Given the description of an element on the screen output the (x, y) to click on. 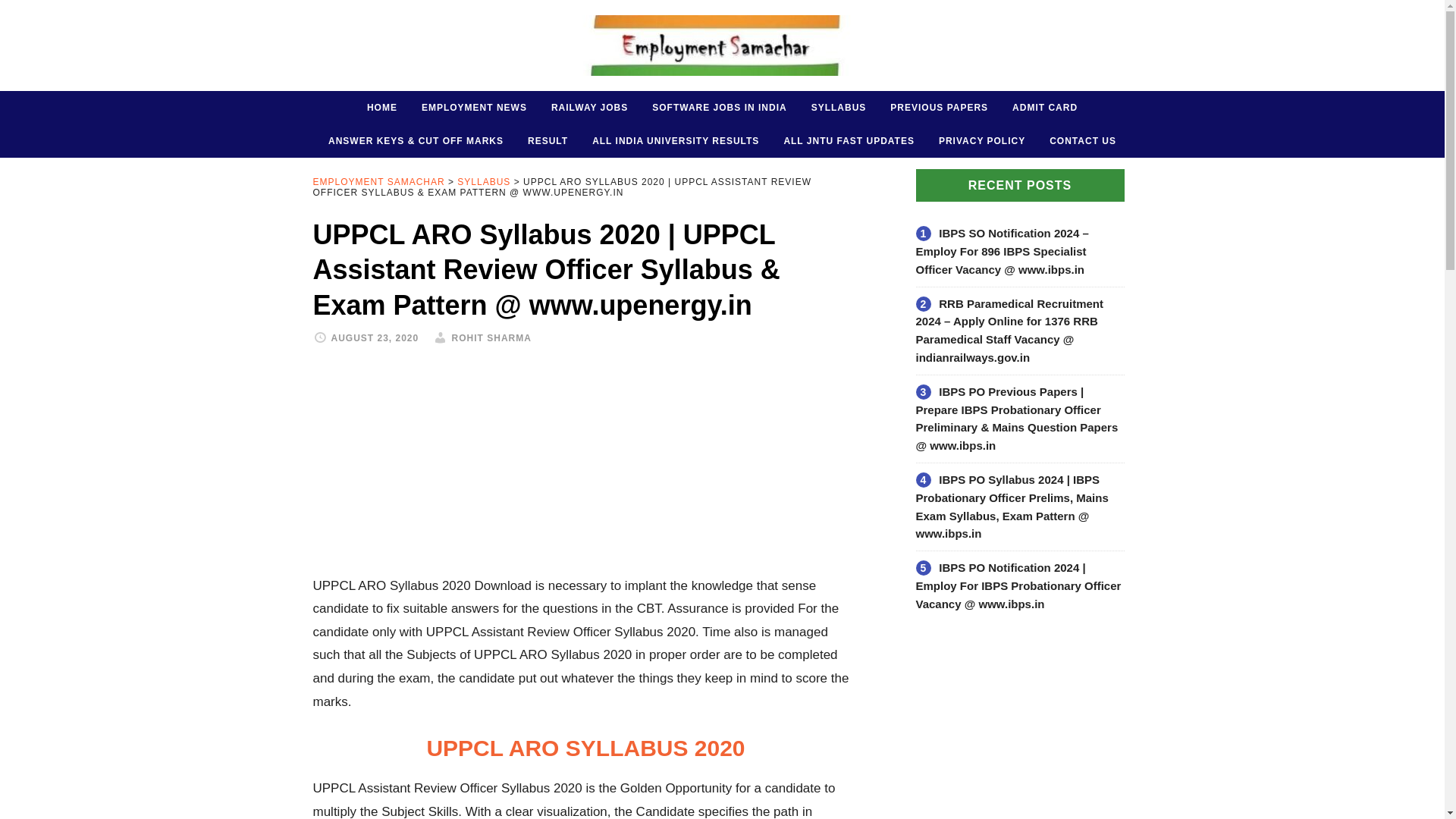
PREVIOUS PAPERS (938, 107)
EMPLOYMENT SAMACHAR (721, 45)
ROHIT SHARMA (491, 337)
ADMIT CARD (1044, 107)
Advertisement (586, 468)
EMPLOYMENT NEWS (473, 107)
Go to the Syllabus category archives. (484, 181)
ALL INDIA UNIVERSITY RESULTS (675, 141)
CONTACT US (1082, 141)
PRIVACY POLICY (981, 141)
